Given the description of an element on the screen output the (x, y) to click on. 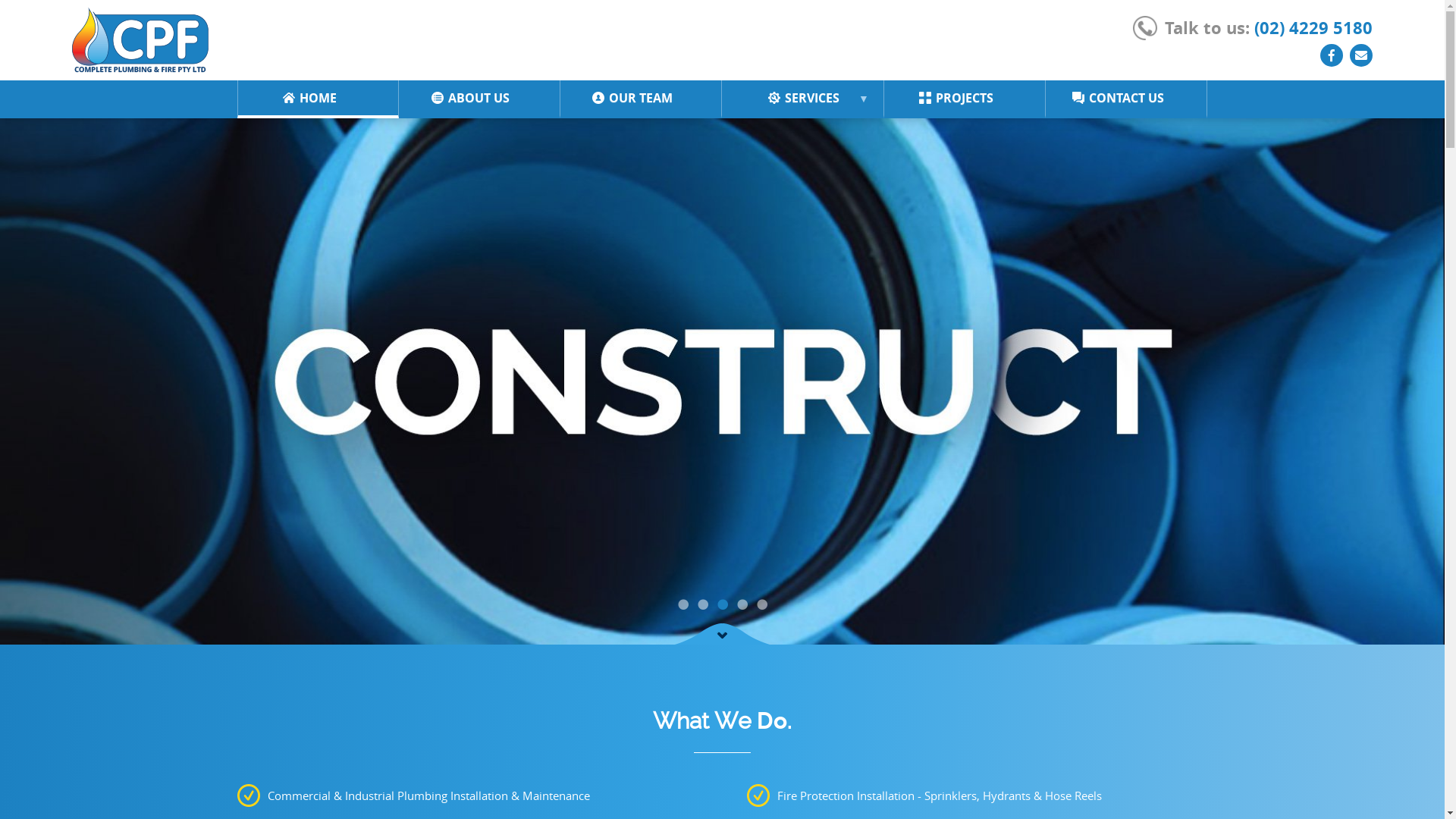
HOME Element type: text (317, 97)
SERVICES Element type: text (802, 97)
CONTACT US Element type: text (1126, 97)
ABOUT US Element type: text (478, 97)
OUR TEAM Element type: text (640, 97)
Talk to us: (02) 4229 5180 Element type: text (1252, 27)
PROJECTS Element type: text (964, 97)
